Given the description of an element on the screen output the (x, y) to click on. 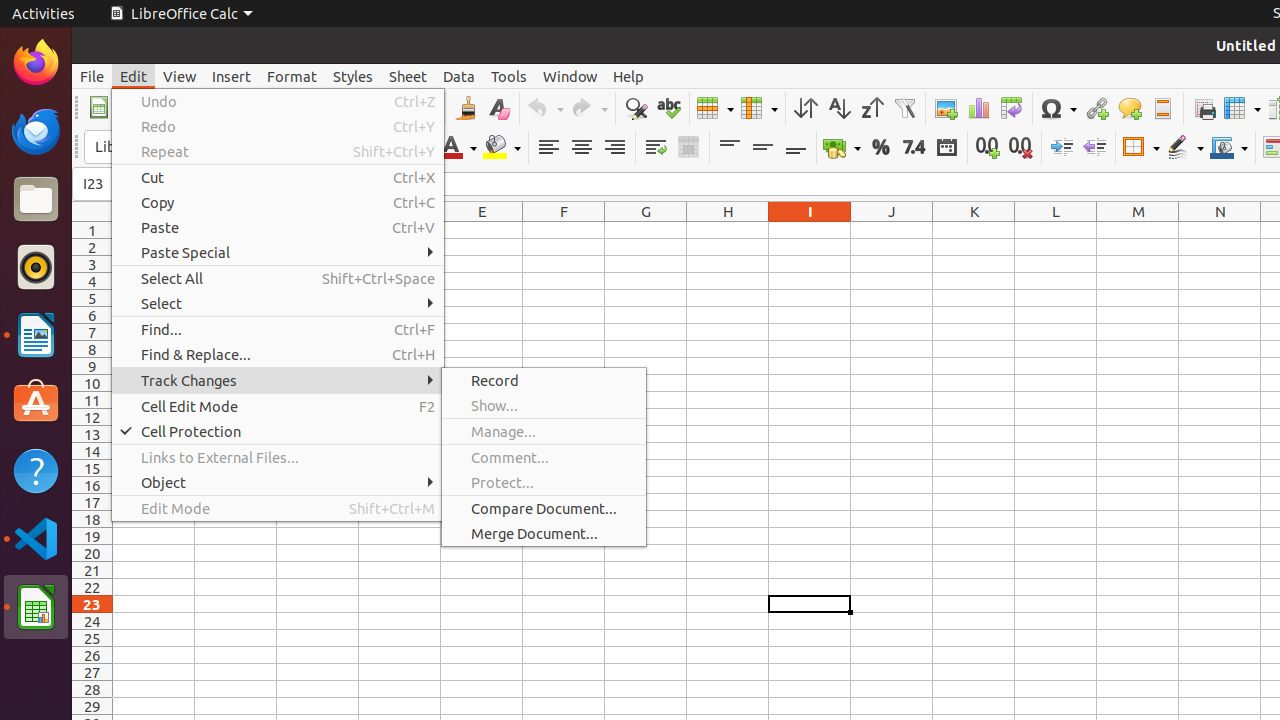
Merge and Center Cells Element type: push-button (688, 147)
Percent Element type: push-button (880, 147)
Chart Element type: push-button (978, 108)
Delete Decimal Place Element type: push-button (1020, 147)
Center Vertically Element type: push-button (762, 147)
